Given the description of an element on the screen output the (x, y) to click on. 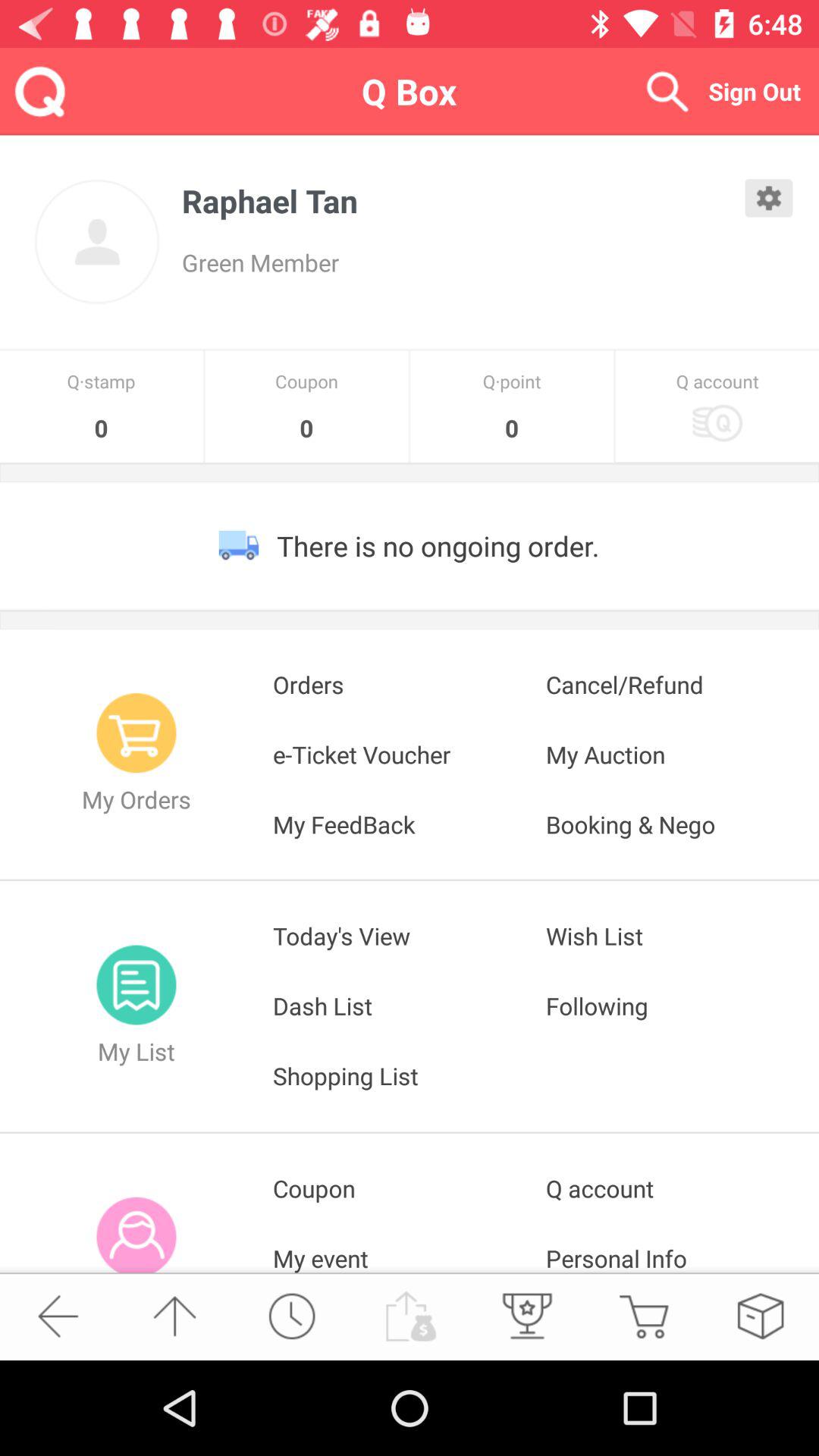
open shopping cart (642, 1316)
